Given the description of an element on the screen output the (x, y) to click on. 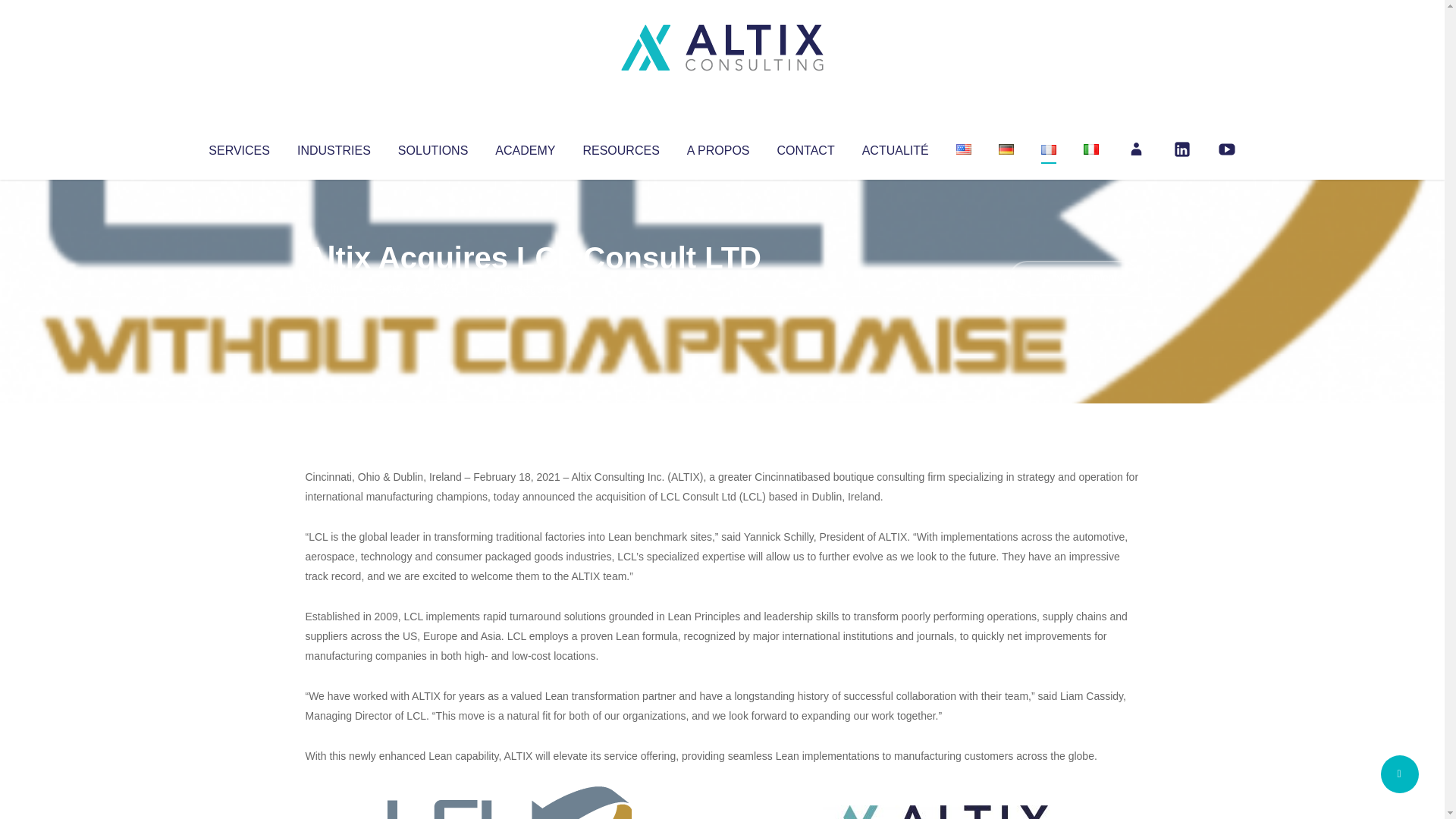
RESOURCES (620, 146)
ACADEMY (524, 146)
No Comments (1073, 278)
SOLUTIONS (432, 146)
Altix (333, 287)
Articles par Altix (333, 287)
INDUSTRIES (334, 146)
SERVICES (238, 146)
Uncategorized (530, 287)
A PROPOS (718, 146)
